Given the description of an element on the screen output the (x, y) to click on. 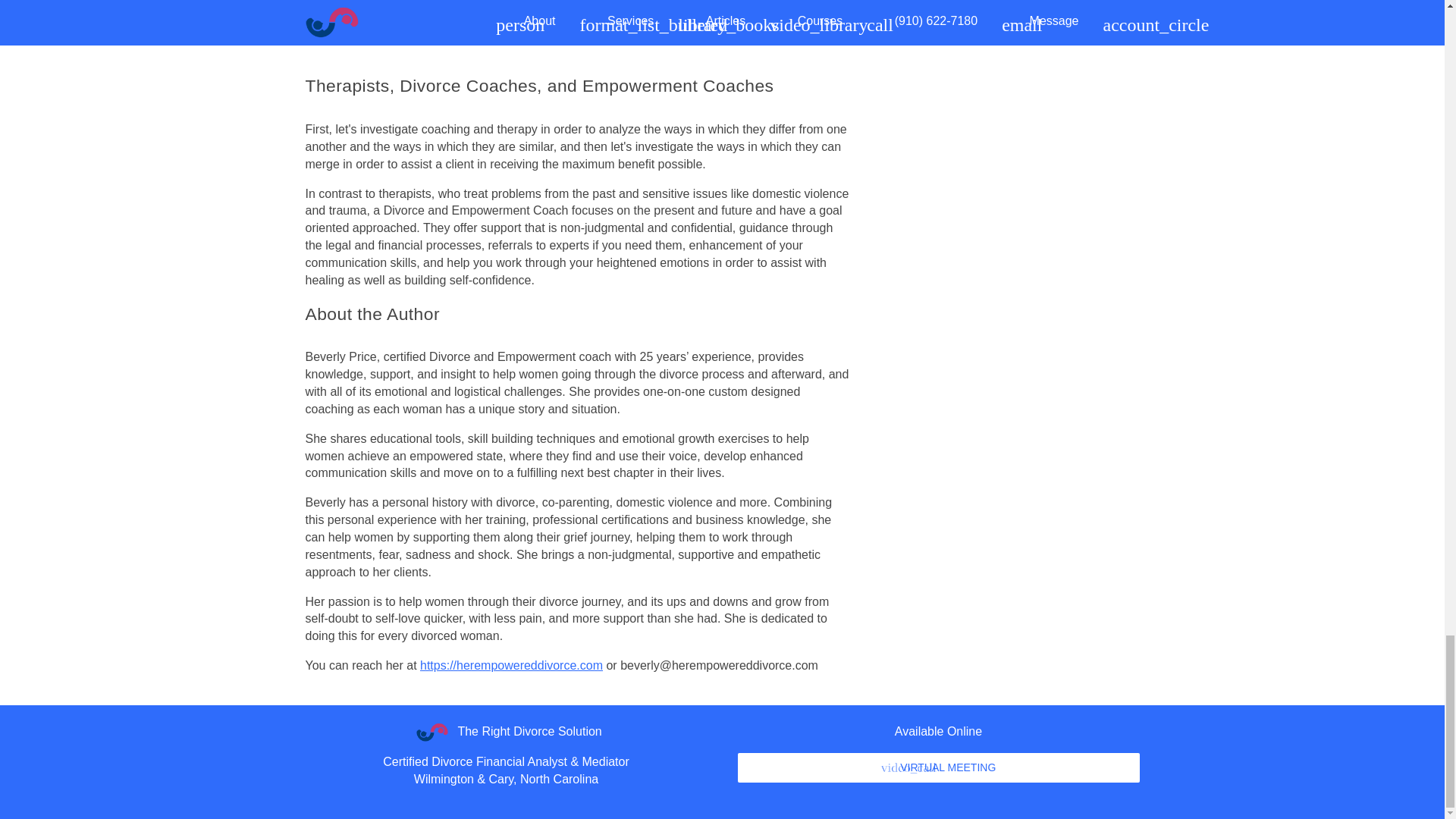
North Carolina (558, 779)
VIRTUAL MEETING (937, 767)
